Given the description of an element on the screen output the (x, y) to click on. 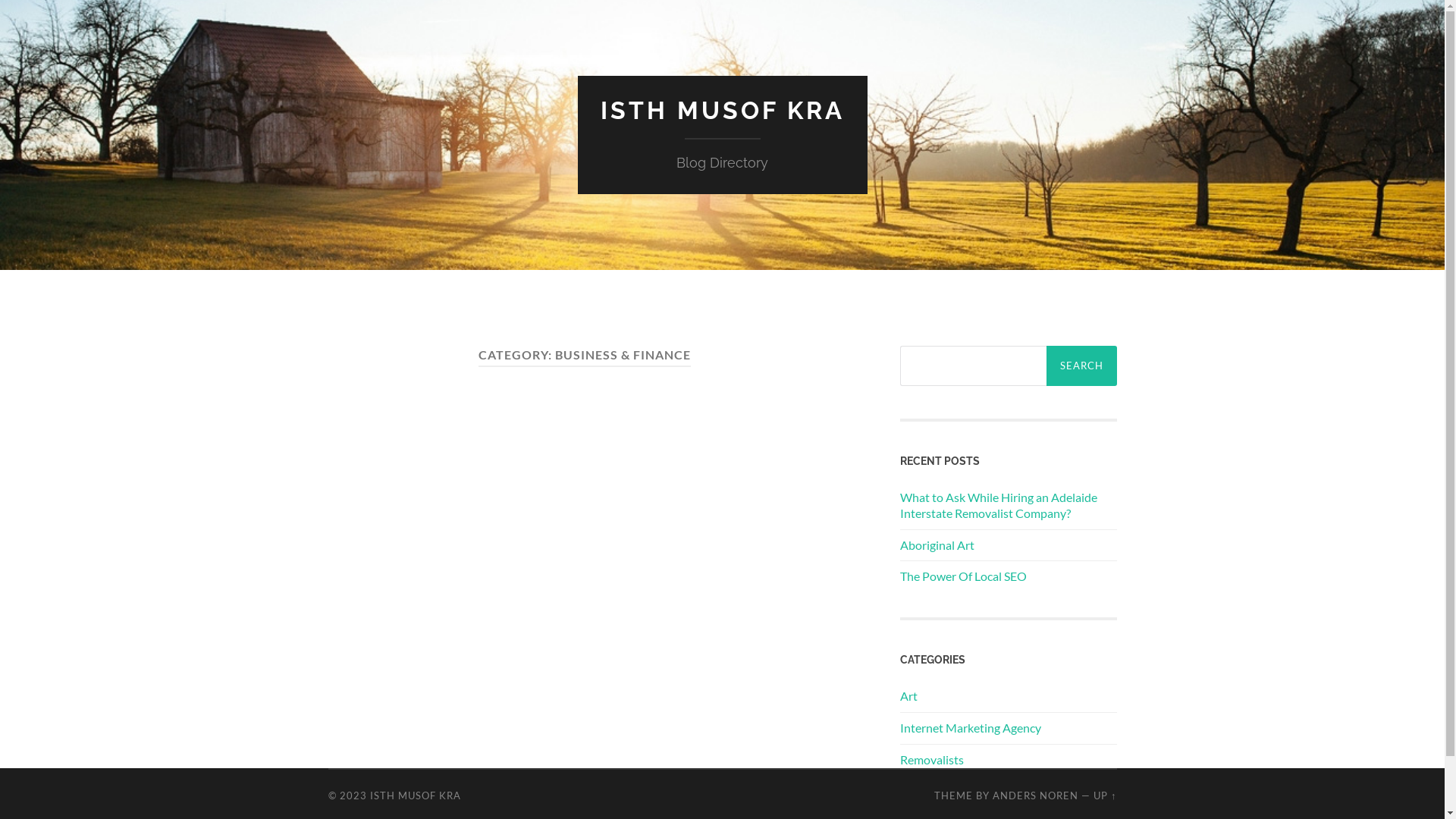
Removalists Element type: text (931, 759)
Internet Marketing Agency Element type: text (969, 727)
Search Element type: text (1081, 365)
ANDERS NOREN Element type: text (1035, 795)
ISTH MUSOF KRA Element type: text (722, 110)
Aboriginal Art Element type: text (936, 544)
ISTH MUSOF KRA Element type: text (415, 795)
Art Element type: text (907, 695)
The Power Of Local SEO Element type: text (962, 575)
